Given the description of an element on the screen output the (x, y) to click on. 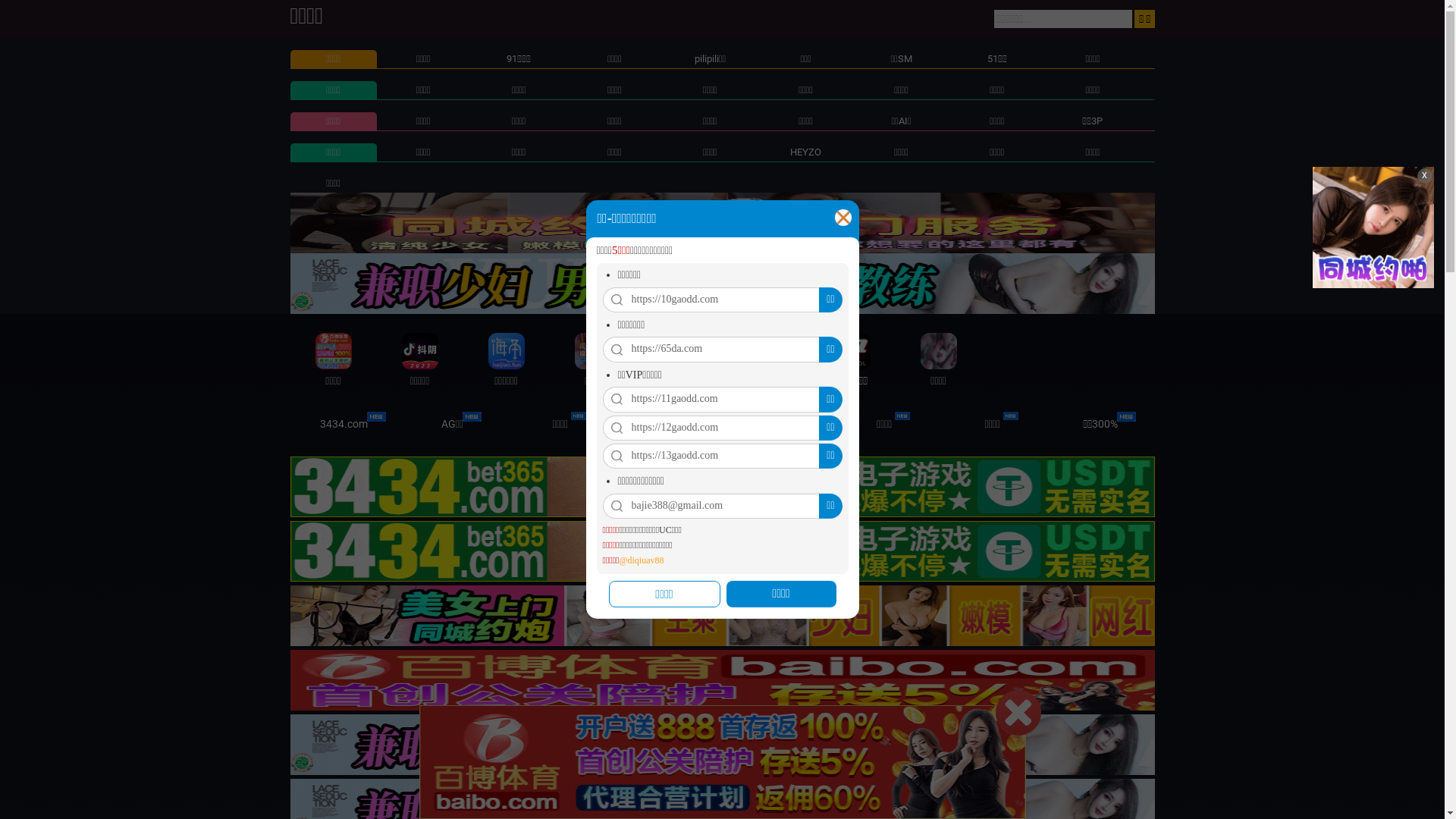
3434.com Element type: text (343, 423)
HEYZO Element type: text (805, 151)
@diqiuav88 Element type: text (640, 560)
